Given the description of an element on the screen output the (x, y) to click on. 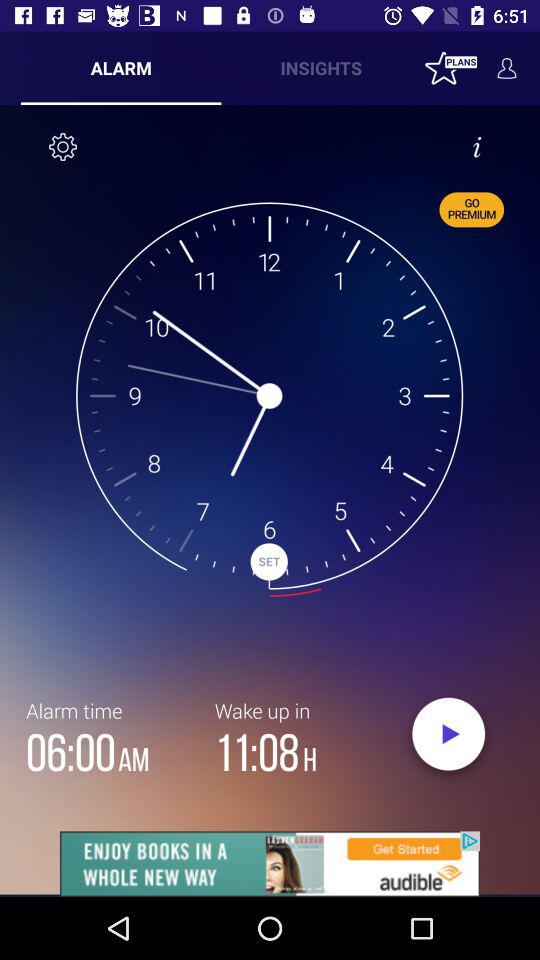
its an advertisement (270, 864)
